Given the description of an element on the screen output the (x, y) to click on. 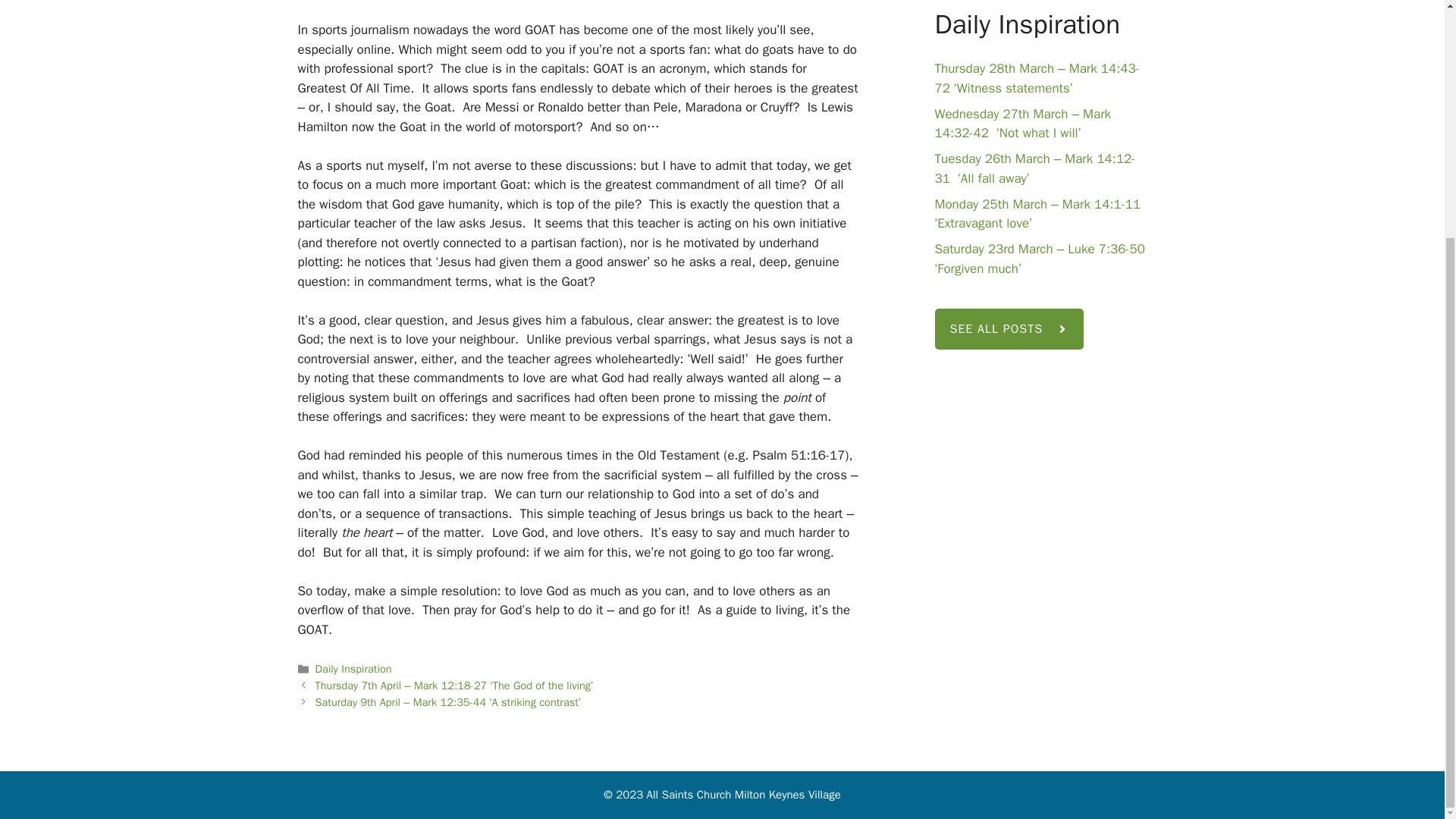
Daily Inspiration (353, 668)
